Given the description of an element on the screen output the (x, y) to click on. 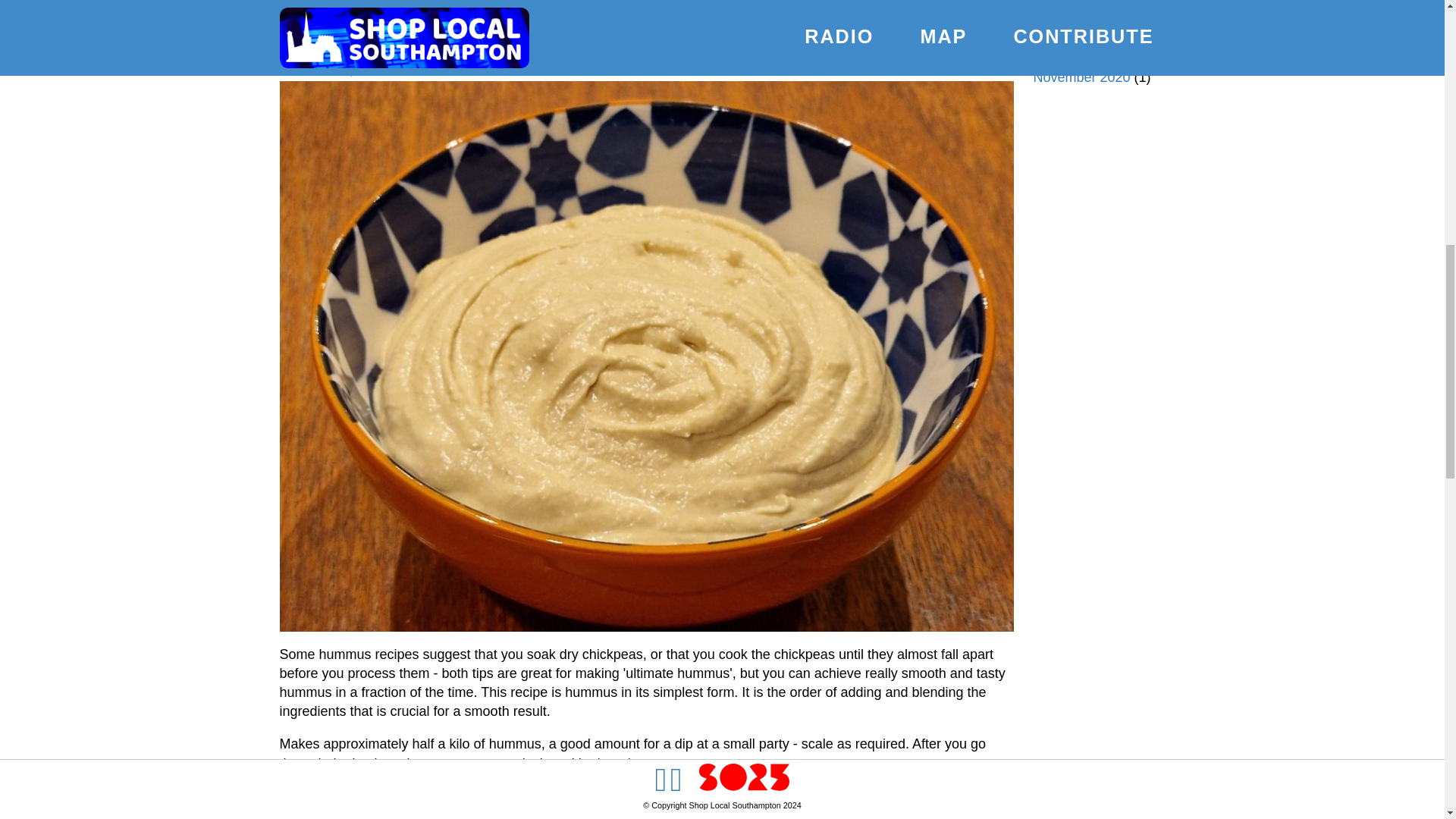
Quickest Tasty and Smooth Hummus (646, 52)
